Given the description of an element on the screen output the (x, y) to click on. 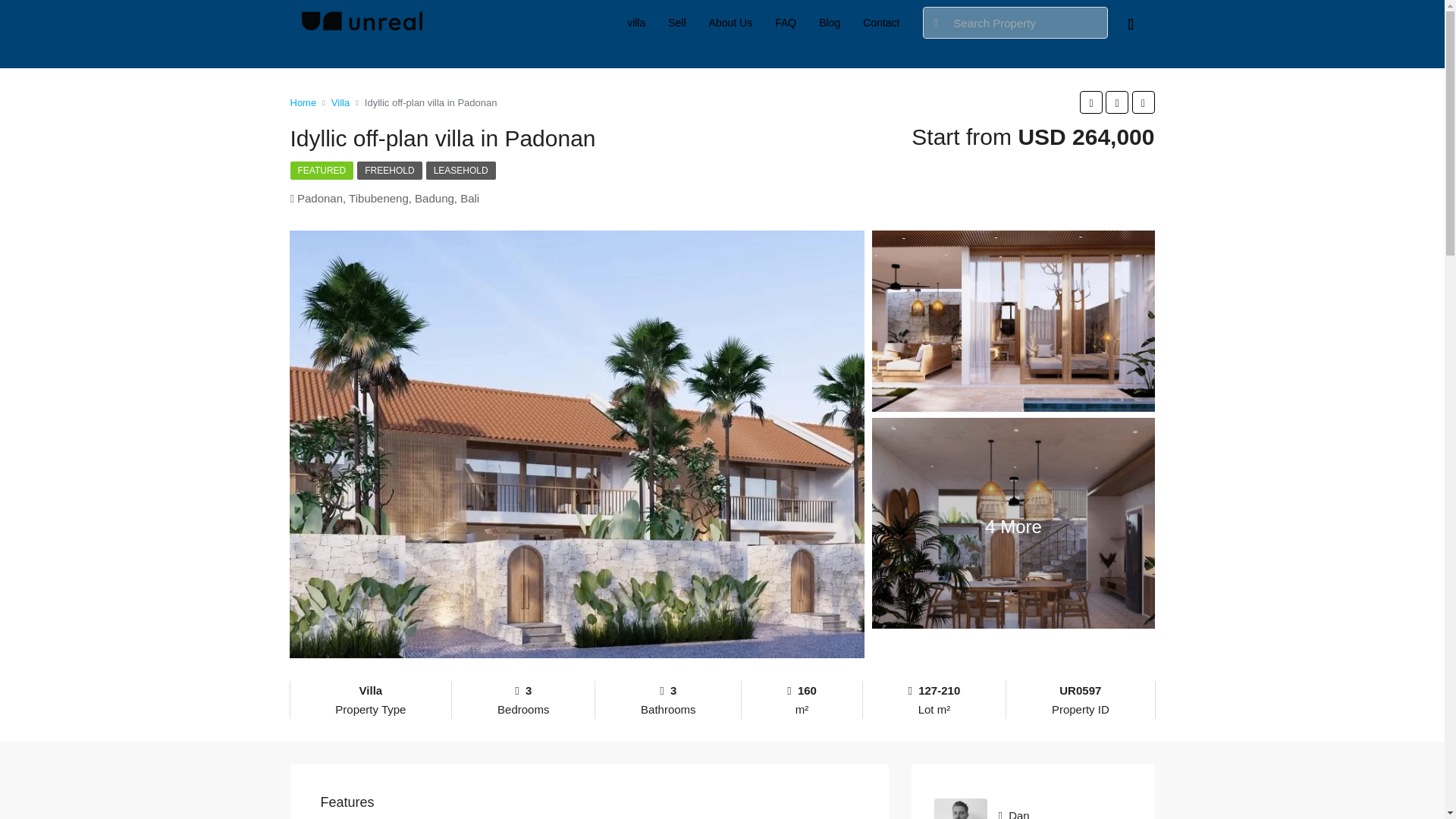
LEASEHOLD (461, 170)
FAQ (785, 22)
villa (635, 22)
Blog (829, 22)
About Us (730, 22)
Villa (340, 101)
FREEHOLD (389, 170)
Home (302, 101)
Contact (881, 22)
